Given the description of an element on the screen output the (x, y) to click on. 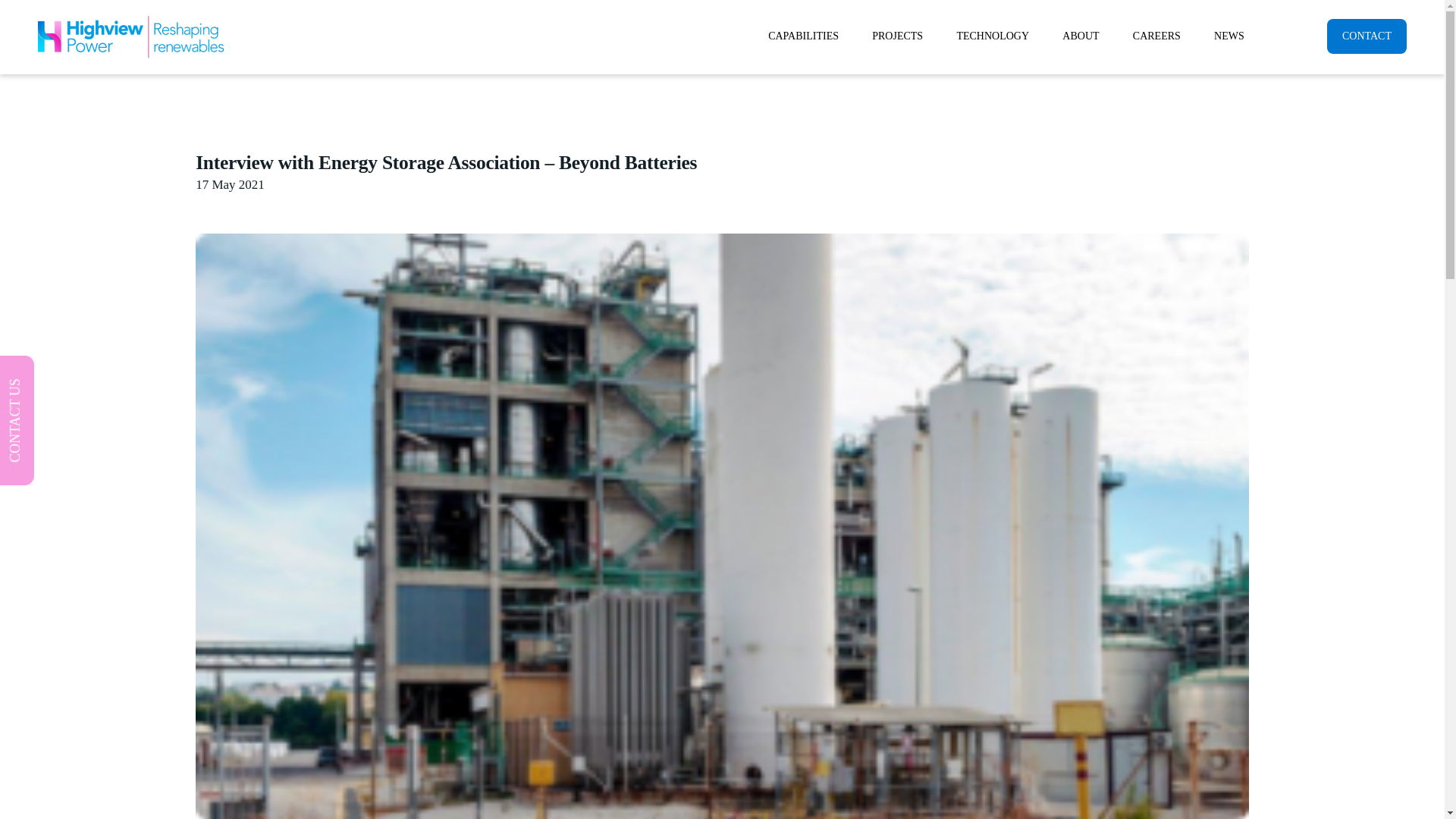
CAPABILITIES (802, 36)
TECHNOLOGY (991, 36)
ABOUT (1079, 36)
NEWS (1228, 36)
CONTACT US (62, 374)
PROJECTS (897, 36)
CAREERS (1156, 36)
CONTACT (1366, 36)
